Given the description of an element on the screen output the (x, y) to click on. 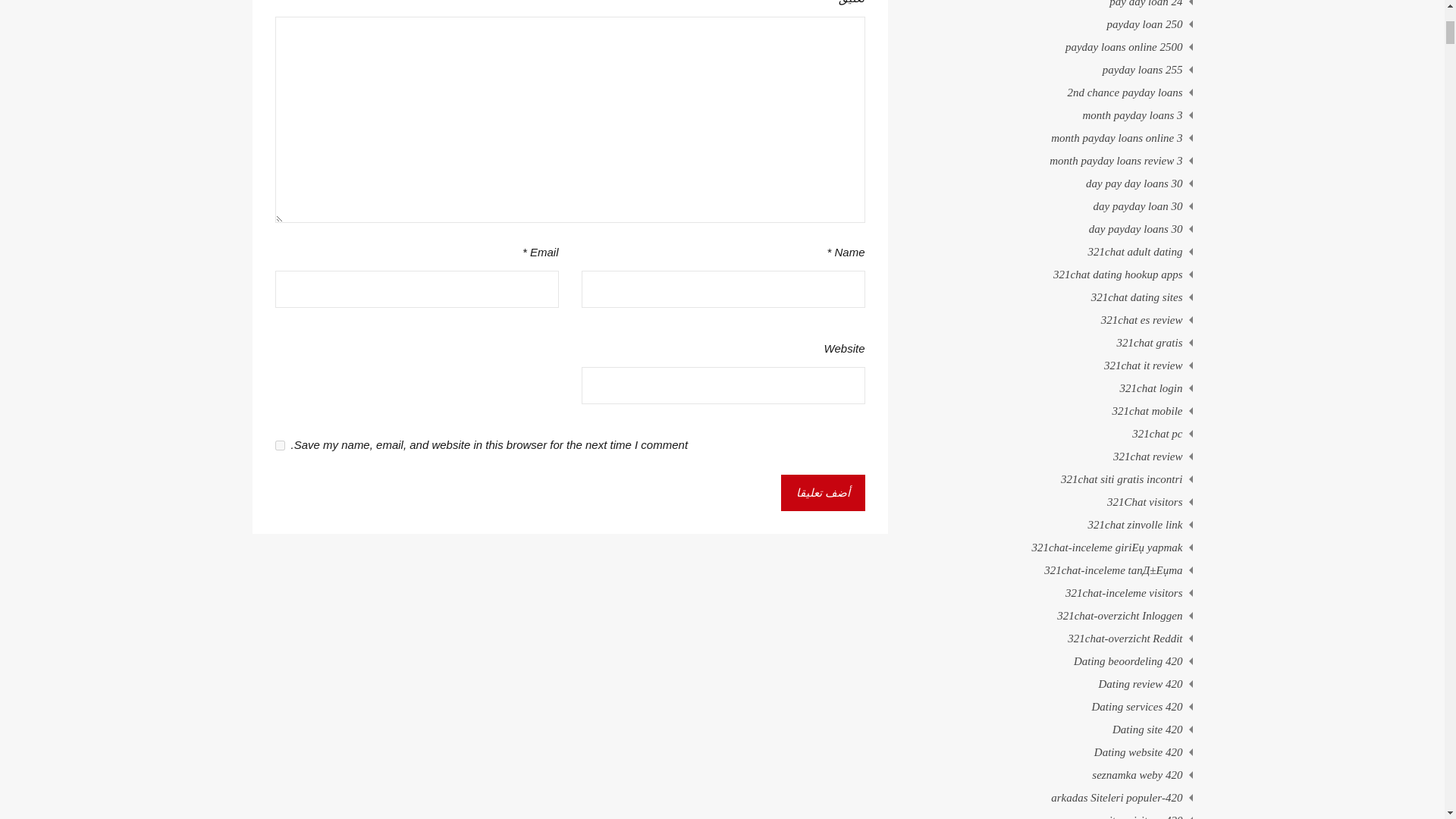
yes (279, 445)
